Given the description of an element on the screen output the (x, y) to click on. 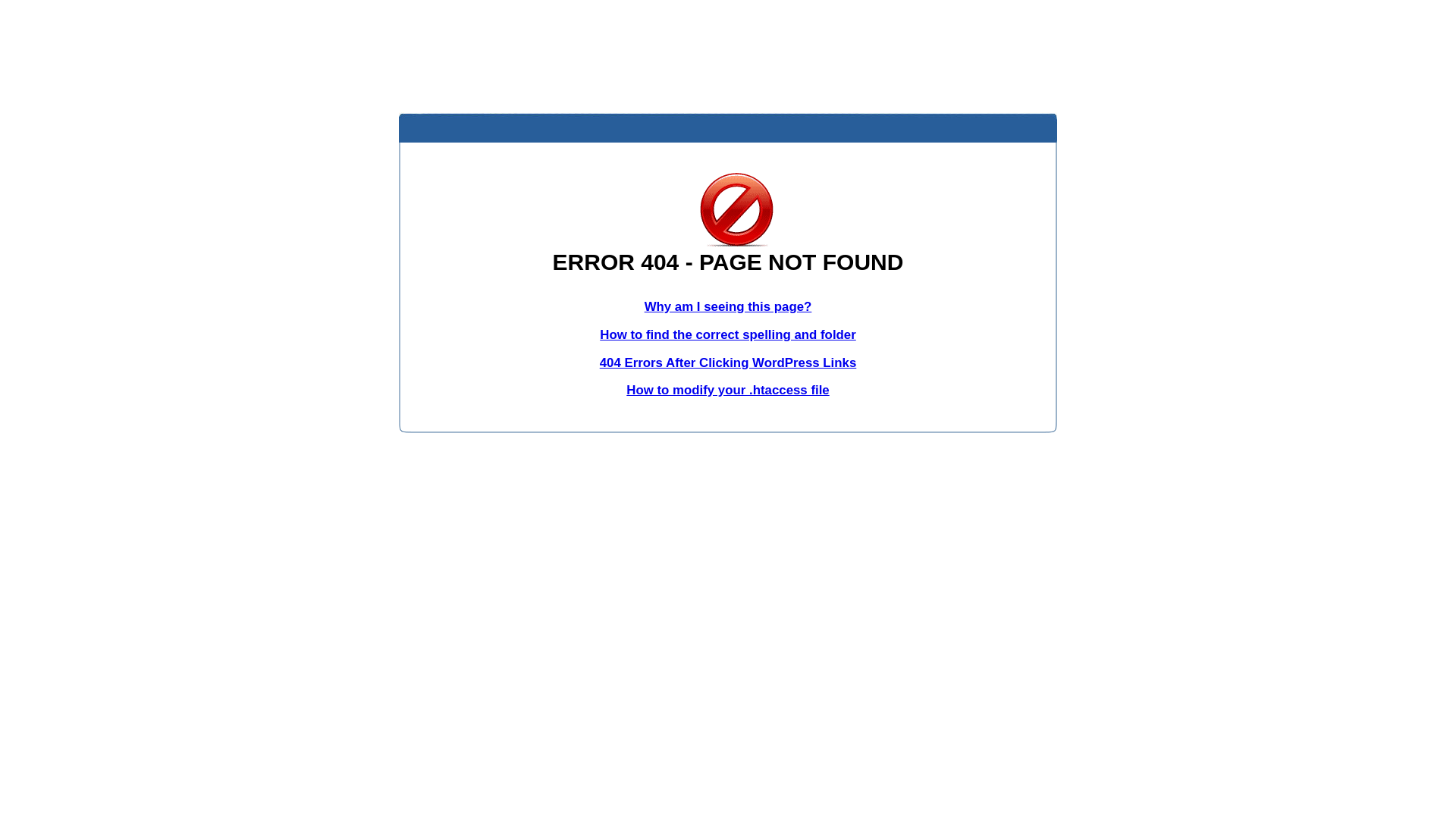
Why am I seeing this page? Element type: text (728, 306)
How to find the correct spelling and folder Element type: text (727, 334)
404 Errors After Clicking WordPress Links Element type: text (727, 362)
How to modify your .htaccess file Element type: text (727, 389)
